Given the description of an element on the screen output the (x, y) to click on. 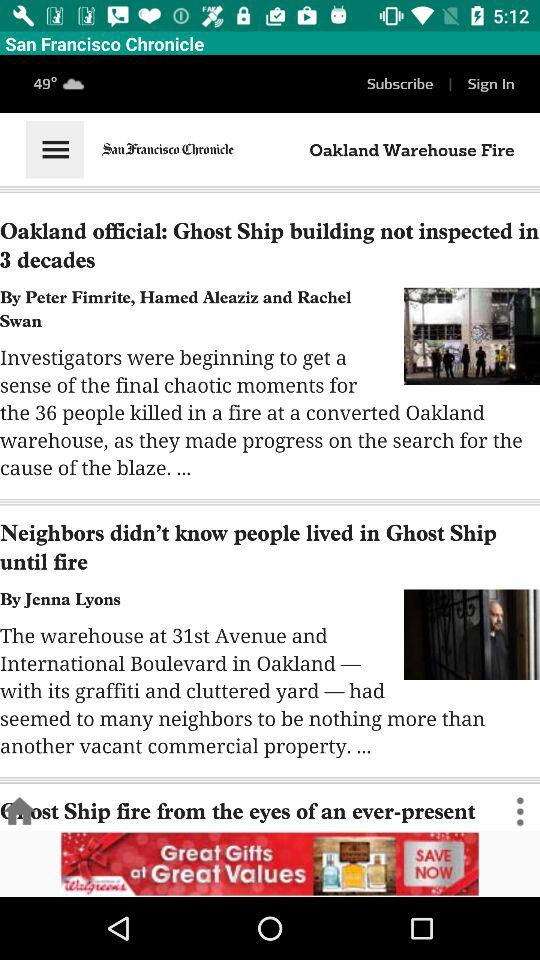
get more information (270, 864)
